Given the description of an element on the screen output the (x, y) to click on. 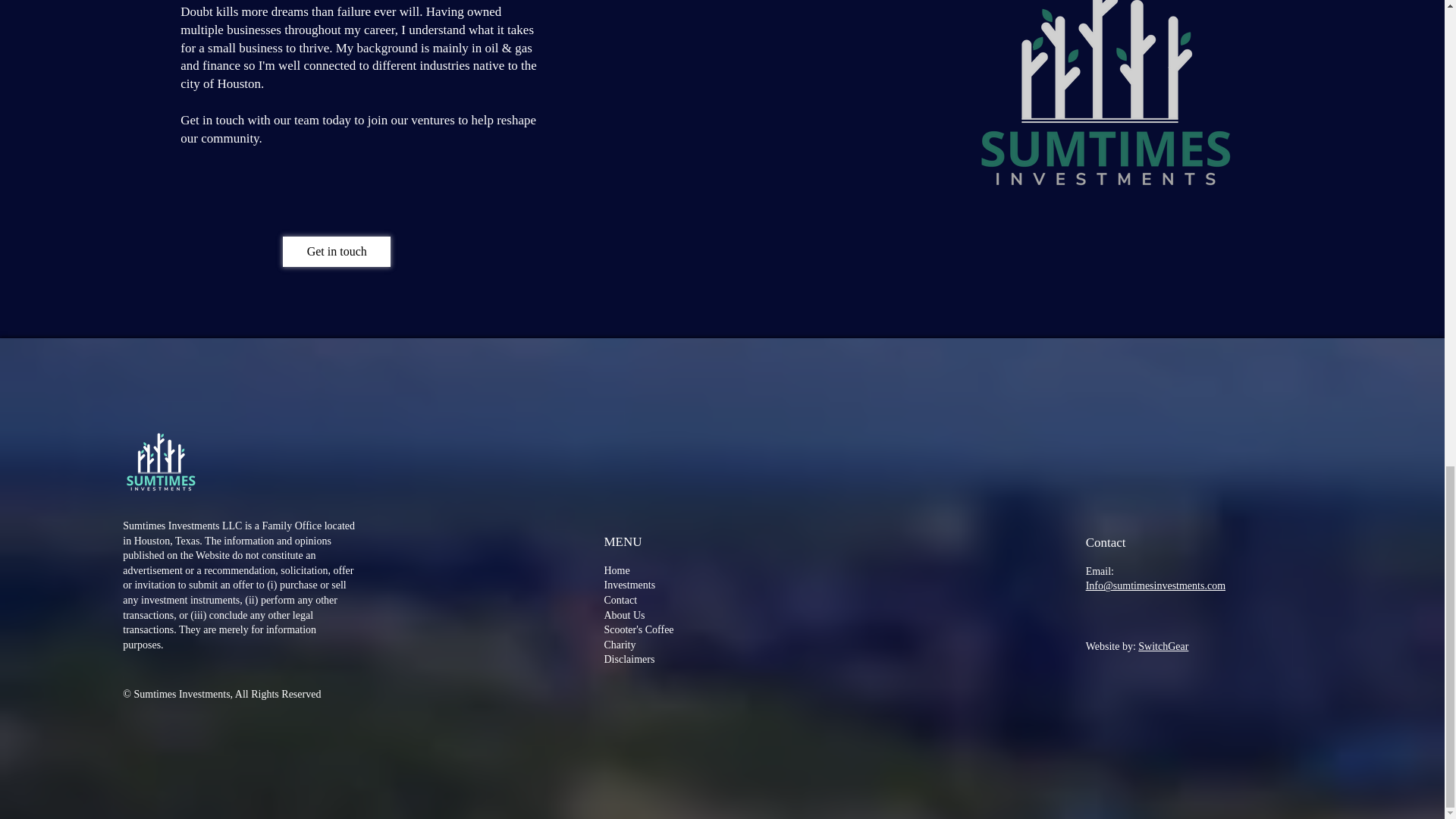
Home (616, 570)
SwitchGear (1163, 645)
Investments (629, 584)
About Us (624, 614)
Contact (620, 600)
Charity (619, 644)
Scooter's Coffee (638, 629)
